Given the description of an element on the screen output the (x, y) to click on. 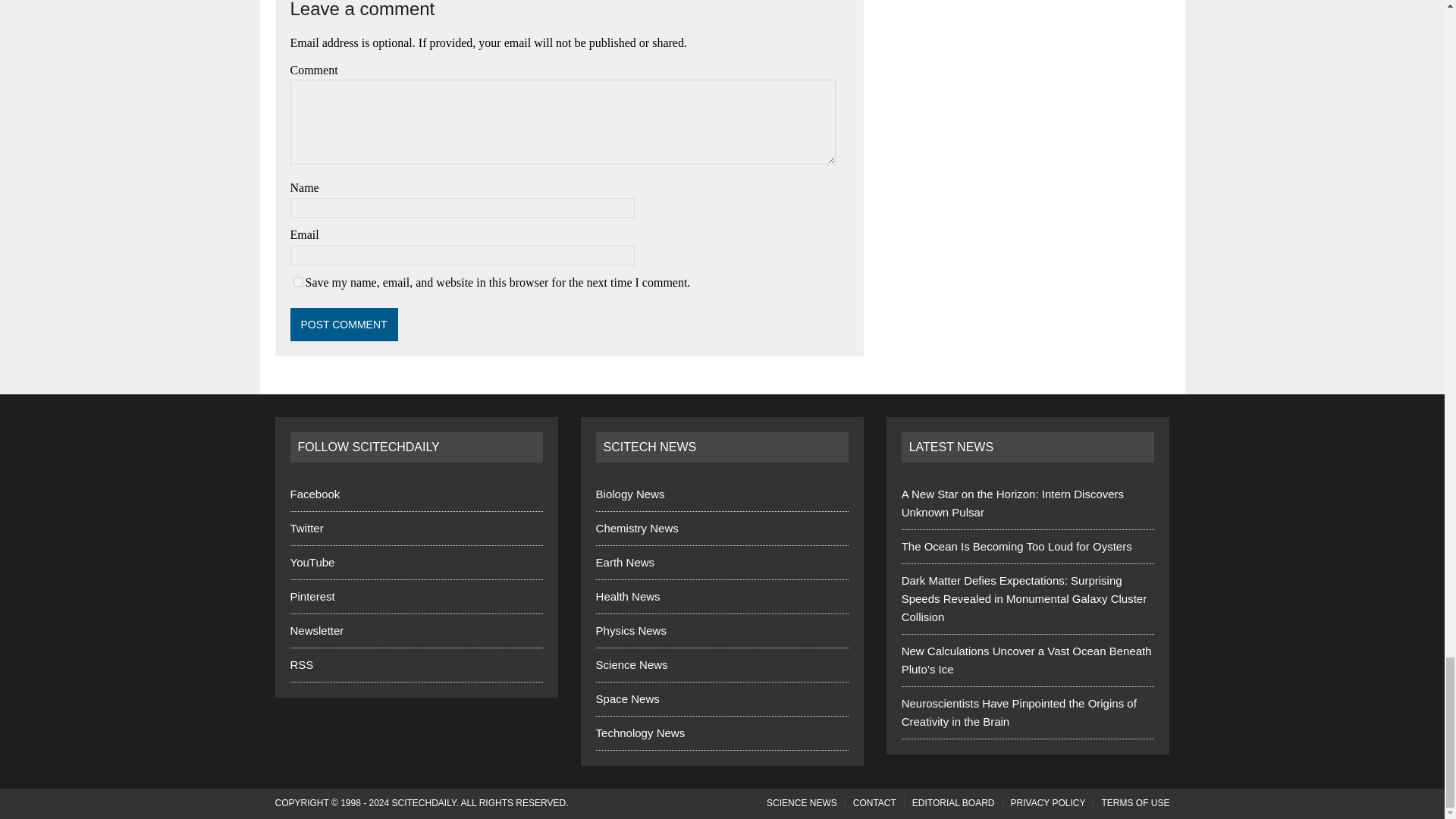
Post Comment (343, 324)
yes (297, 281)
